Given the description of an element on the screen output the (x, y) to click on. 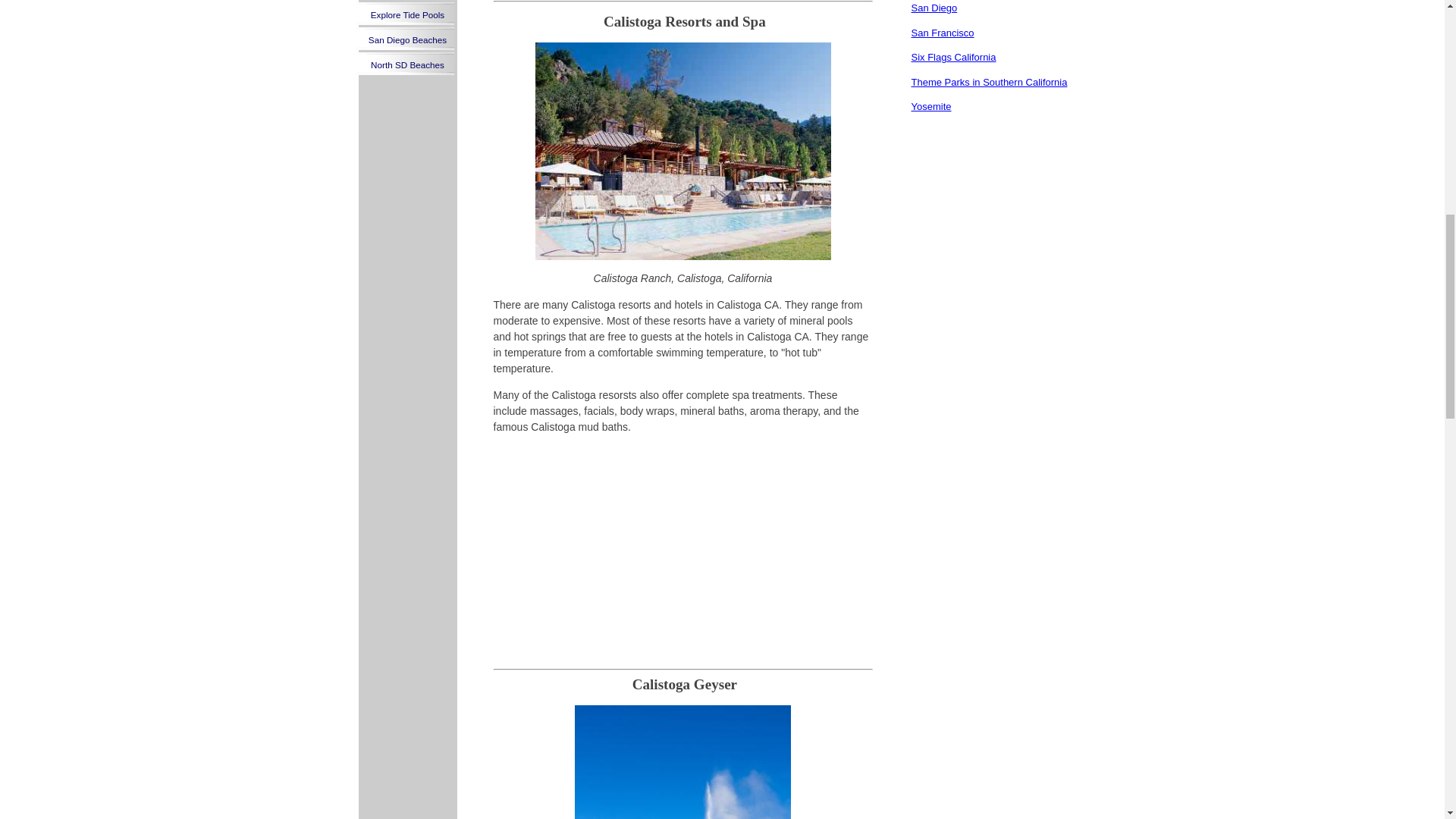
Calistoga Resort (683, 151)
Calistoga Geyser (682, 762)
Beach Fun (407, 1)
Explore Tide Pools (407, 14)
Advertisement (681, 551)
